Given the description of an element on the screen output the (x, y) to click on. 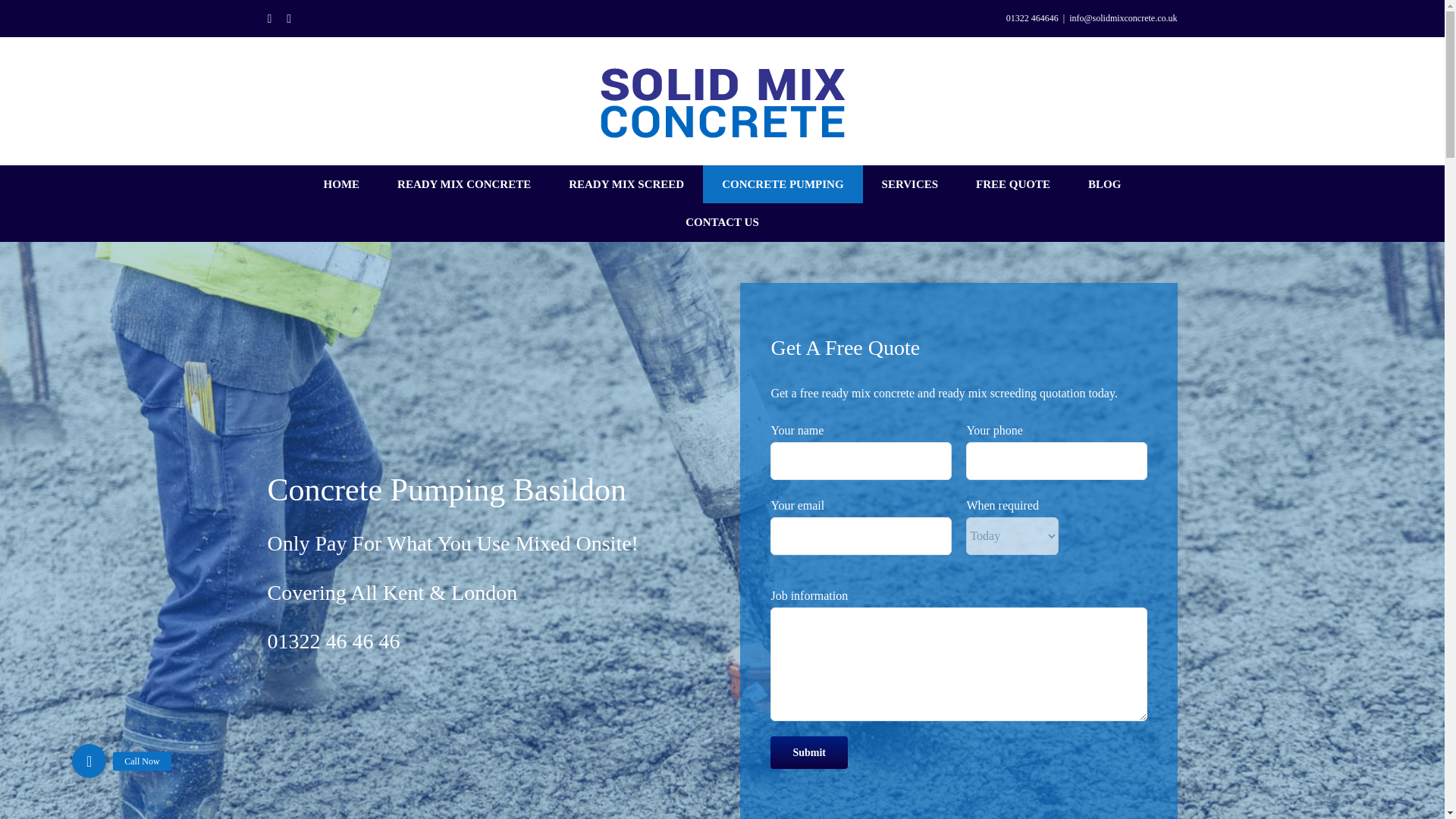
READY MIX CONCRETE (464, 184)
SERVICES (910, 184)
Submit (808, 752)
READY MIX SCREED (626, 184)
BLOG (1104, 184)
Submit (808, 752)
FREE QUOTE (1012, 184)
CONCRETE PUMPING (782, 184)
CONTACT US (721, 221)
